Given the description of an element on the screen output the (x, y) to click on. 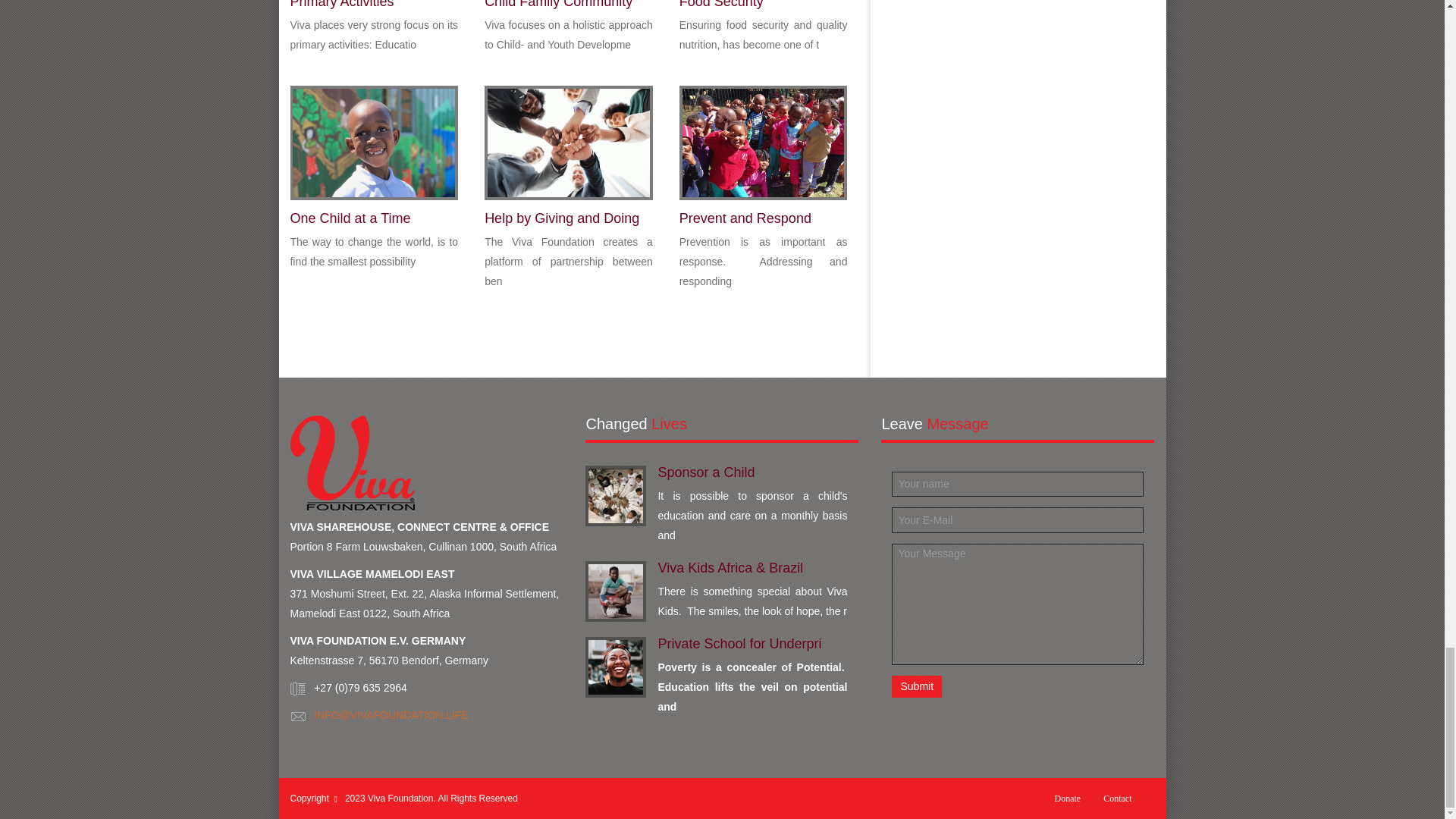
Submit (916, 686)
